Given the description of an element on the screen output the (x, y) to click on. 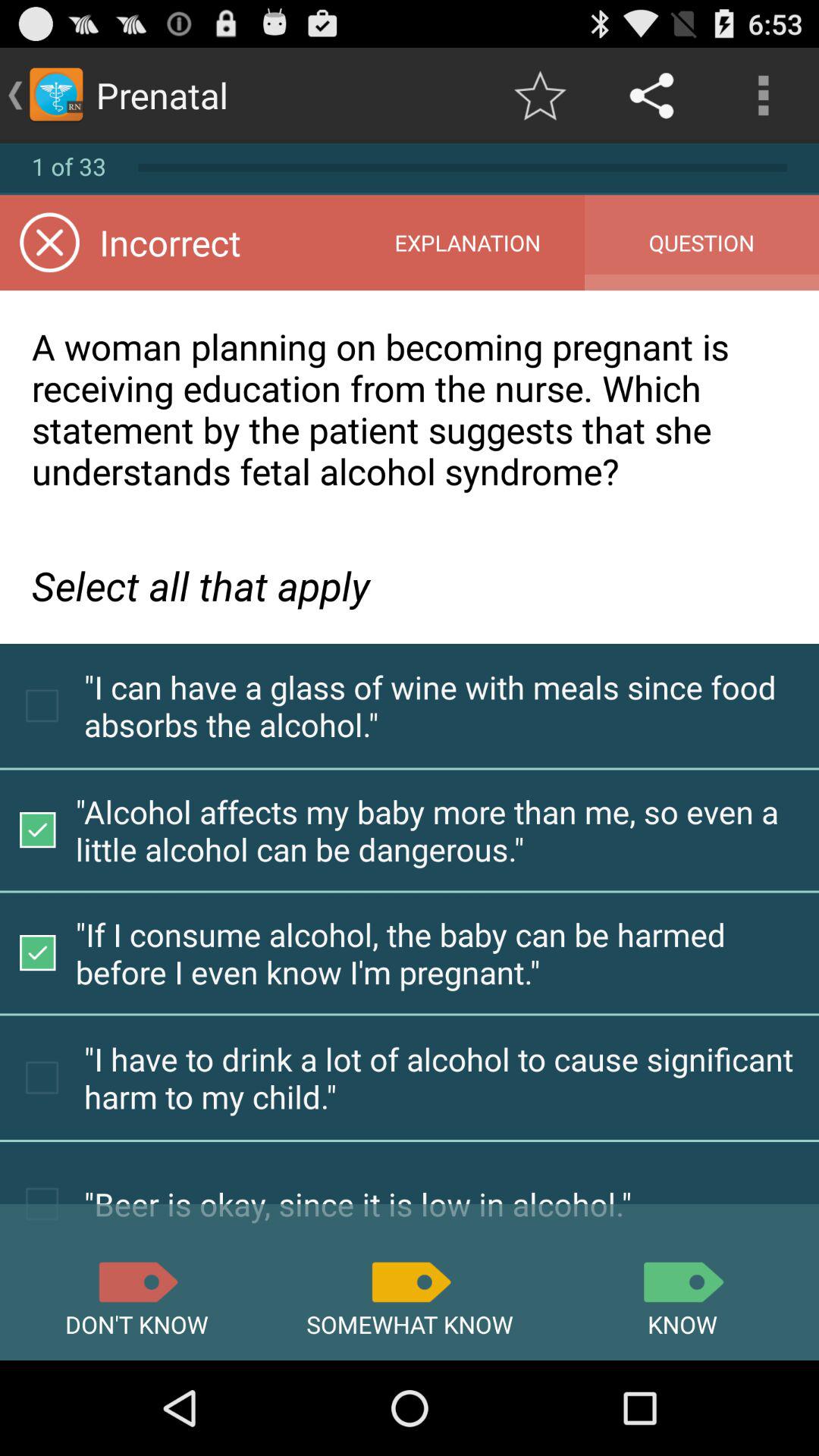
select icon below beer is okay icon (682, 1281)
